Given the description of an element on the screen output the (x, y) to click on. 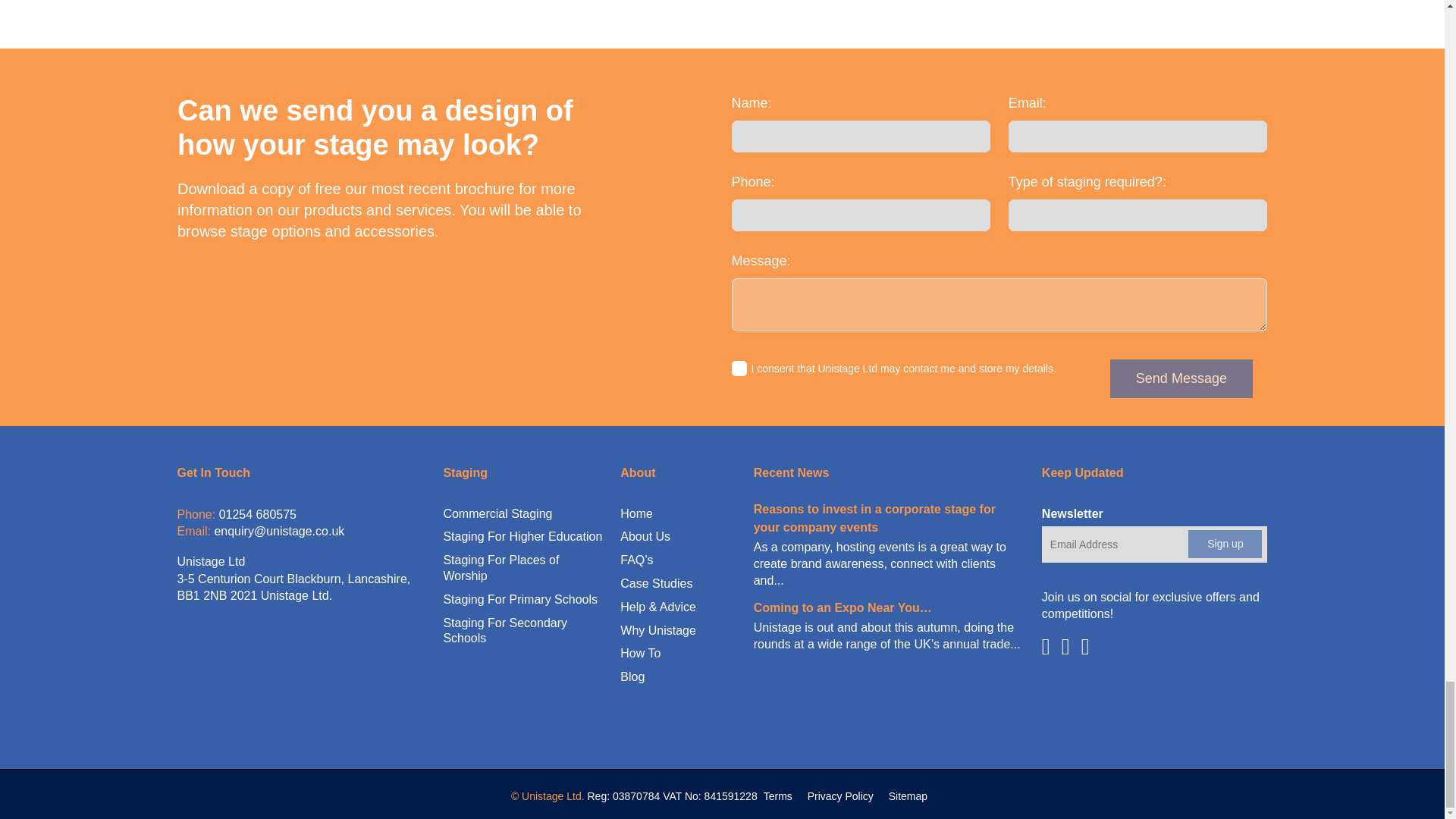
Sign up (1225, 543)
Send Message (1180, 378)
